Given the description of an element on the screen output the (x, y) to click on. 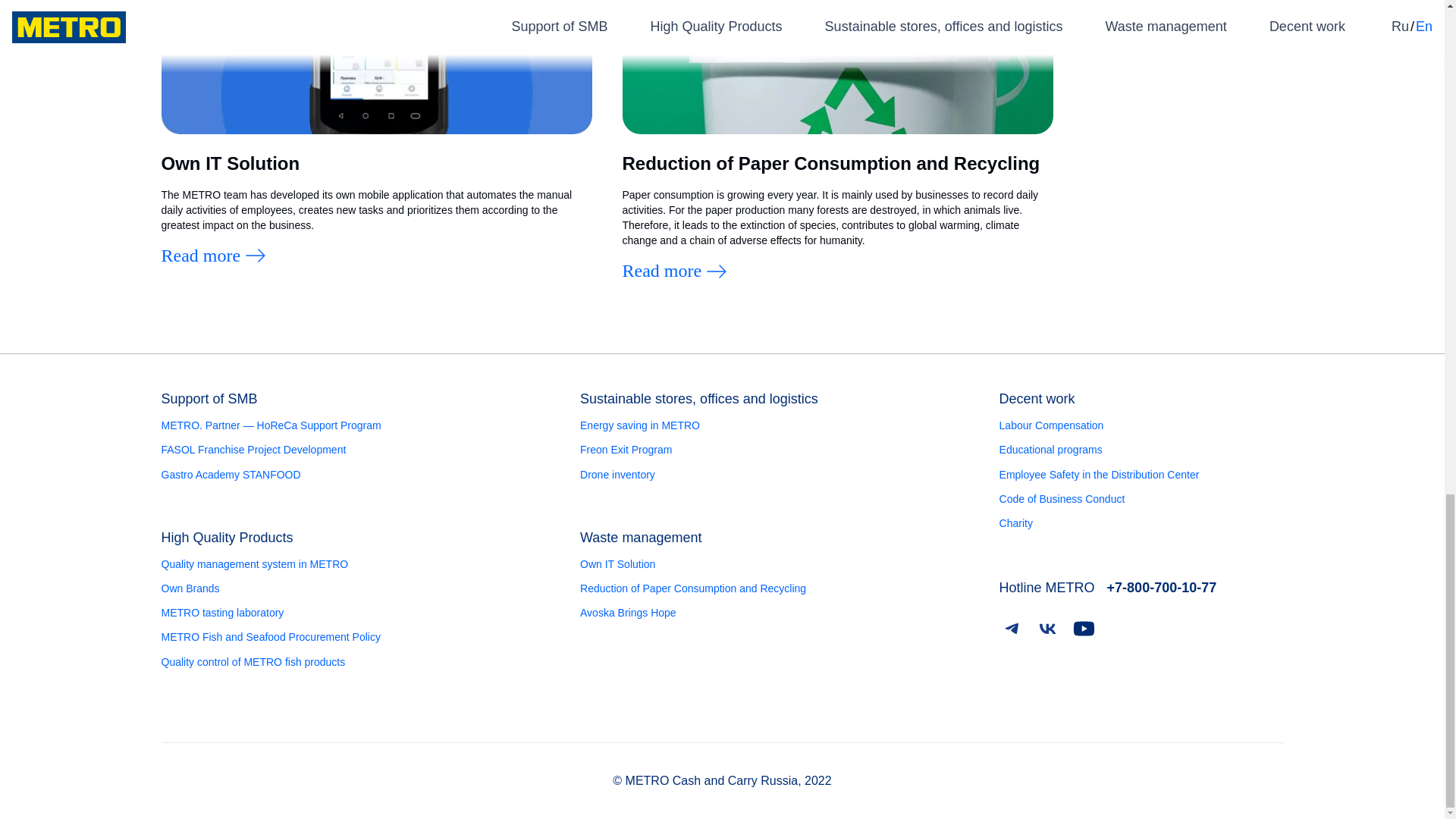
youtube (1083, 628)
vk (1047, 628)
telegram (1010, 628)
